Given the description of an element on the screen output the (x, y) to click on. 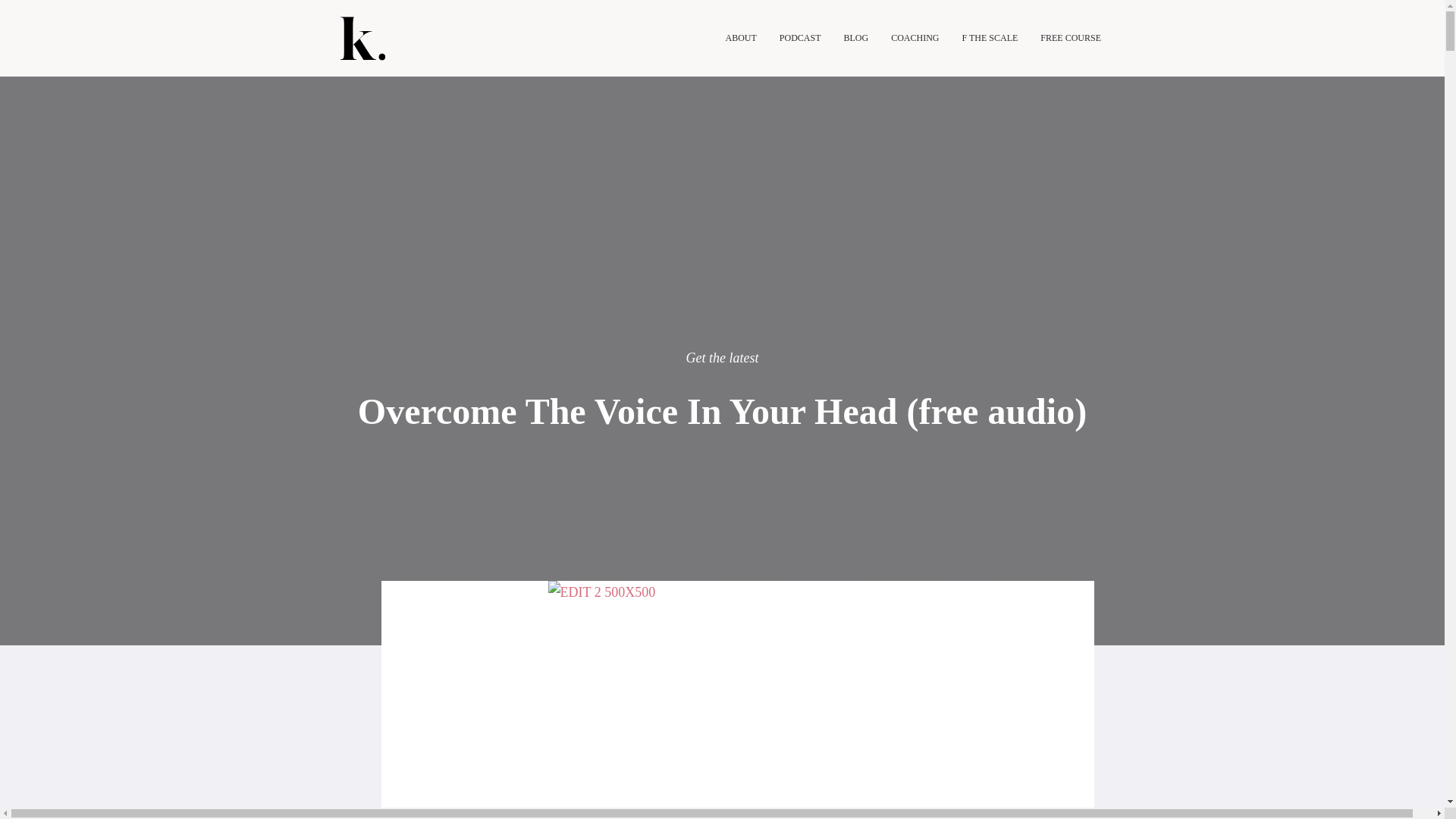
PODCAST (799, 37)
F THE SCALE (989, 37)
ABOUT (740, 37)
FREE COURSE (1070, 37)
BLOG (855, 37)
COACHING (915, 37)
